Given the description of an element on the screen output the (x, y) to click on. 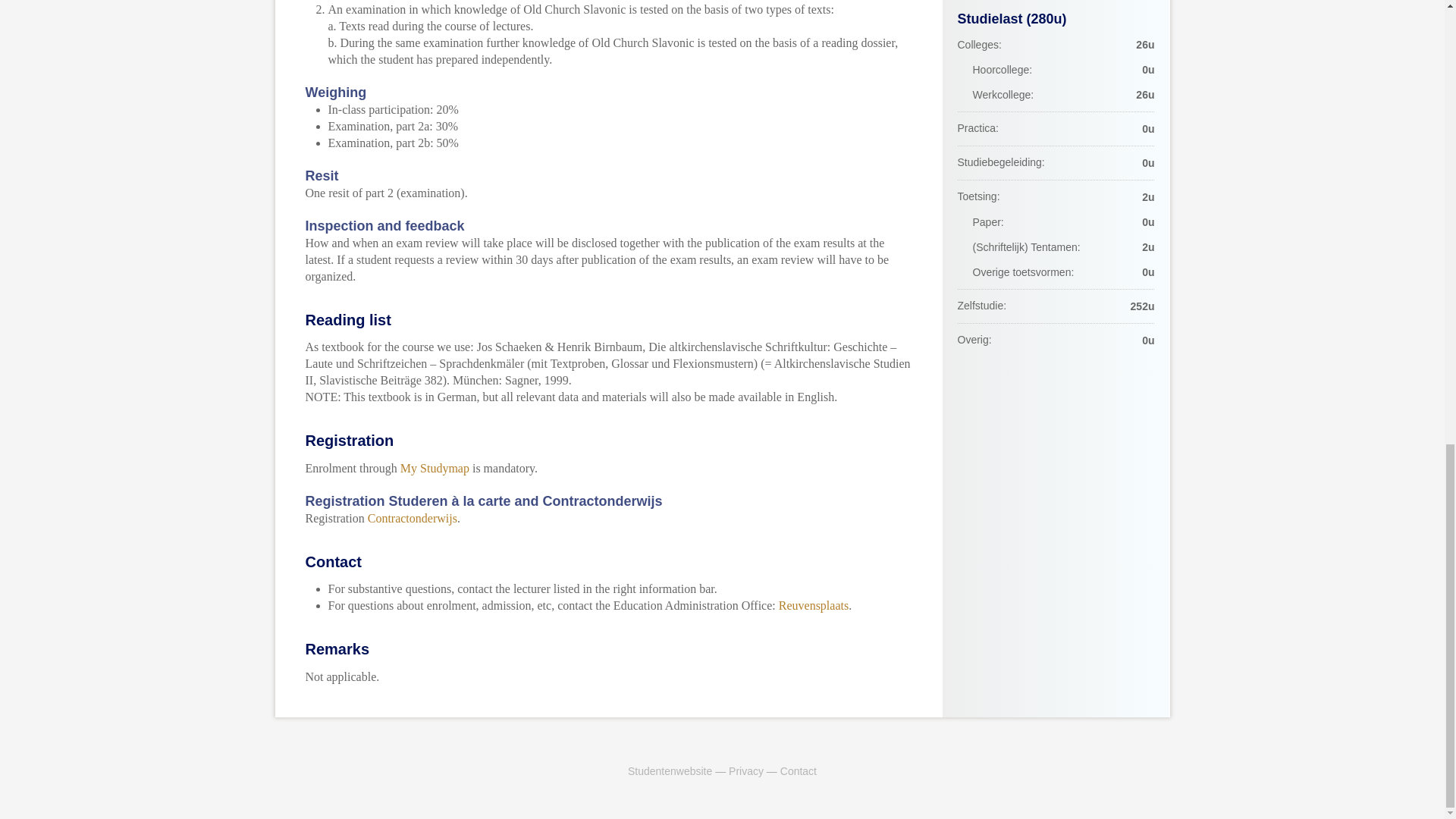
My Studymap (434, 468)
Contact (798, 770)
Contractonderwijs (412, 517)
Studentenwebsite (669, 770)
Reuvensplaats (813, 604)
Privacy (745, 770)
